Given the description of an element on the screen output the (x, y) to click on. 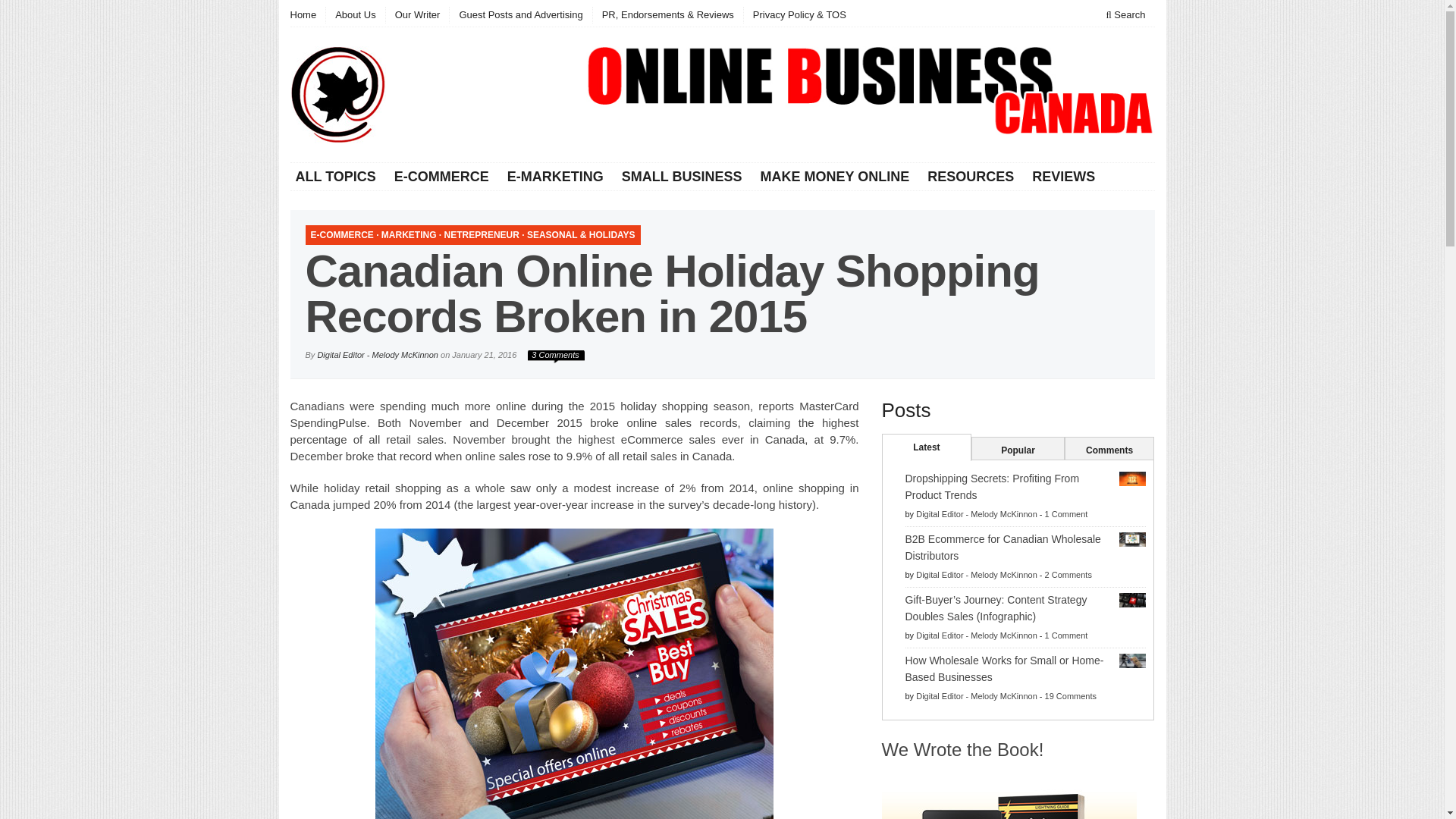
Guest Posts and Advertising (519, 14)
E-COMMERCE (441, 176)
About Us (354, 14)
ALL TOPICS (336, 176)
Online Business Canada (337, 94)
Search (1125, 14)
Home (306, 14)
Our Writer (417, 14)
